Given the description of an element on the screen output the (x, y) to click on. 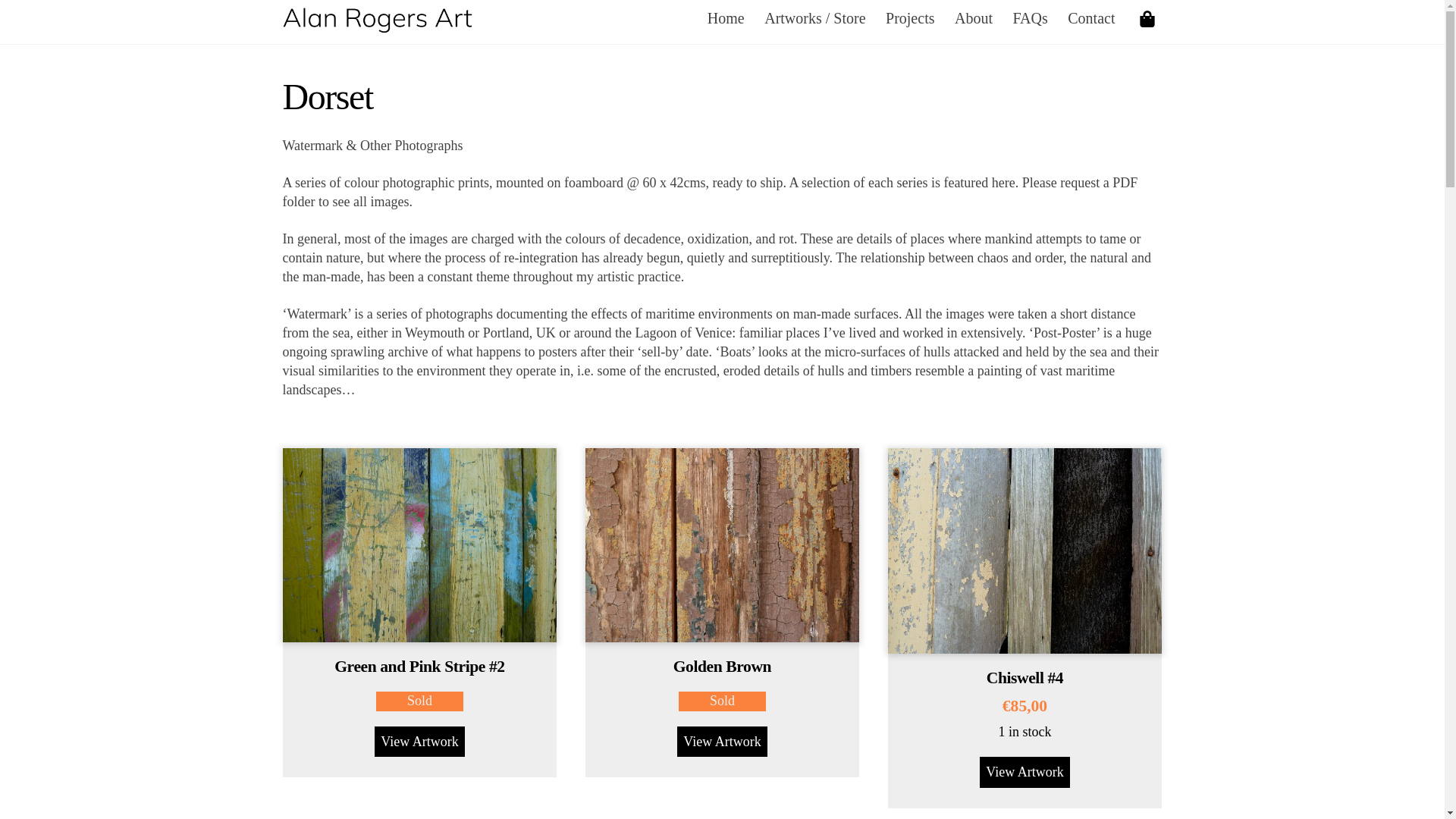
Contact (1091, 18)
Home (727, 18)
About (974, 18)
Alan Rogers Art (376, 24)
View Artwork (1023, 771)
chiswell 04 (1024, 550)
greenandpinkstripe2 (419, 544)
Golden Brown (721, 666)
View Artwork (722, 741)
Projects (910, 18)
